Given the description of an element on the screen output the (x, y) to click on. 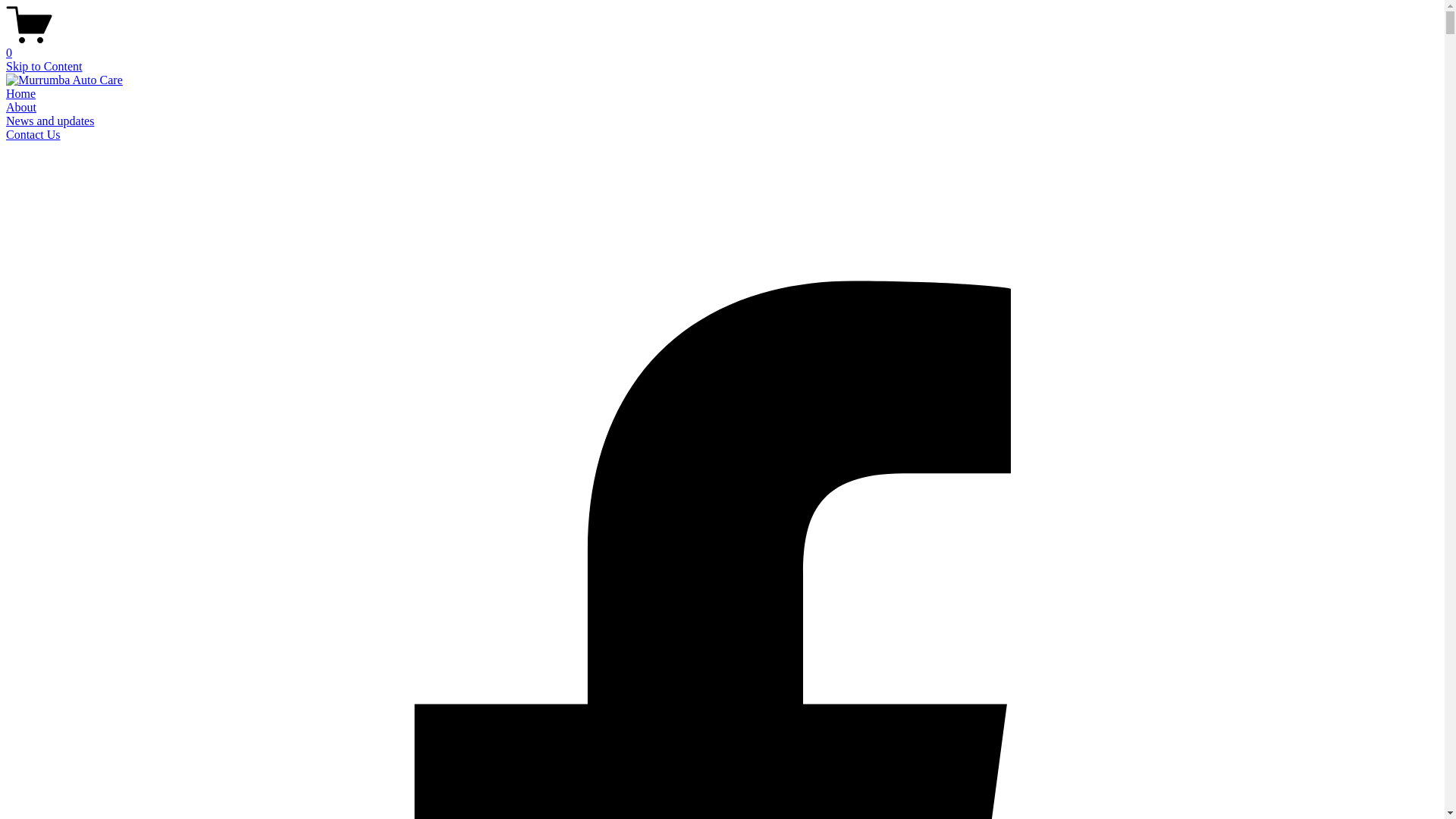
News and updates Element type: text (50, 120)
0 Element type: text (722, 45)
About Element type: text (21, 106)
Home Element type: text (20, 93)
Skip to Content Element type: text (43, 65)
Contact Us Element type: text (33, 134)
